Given the description of an element on the screen output the (x, y) to click on. 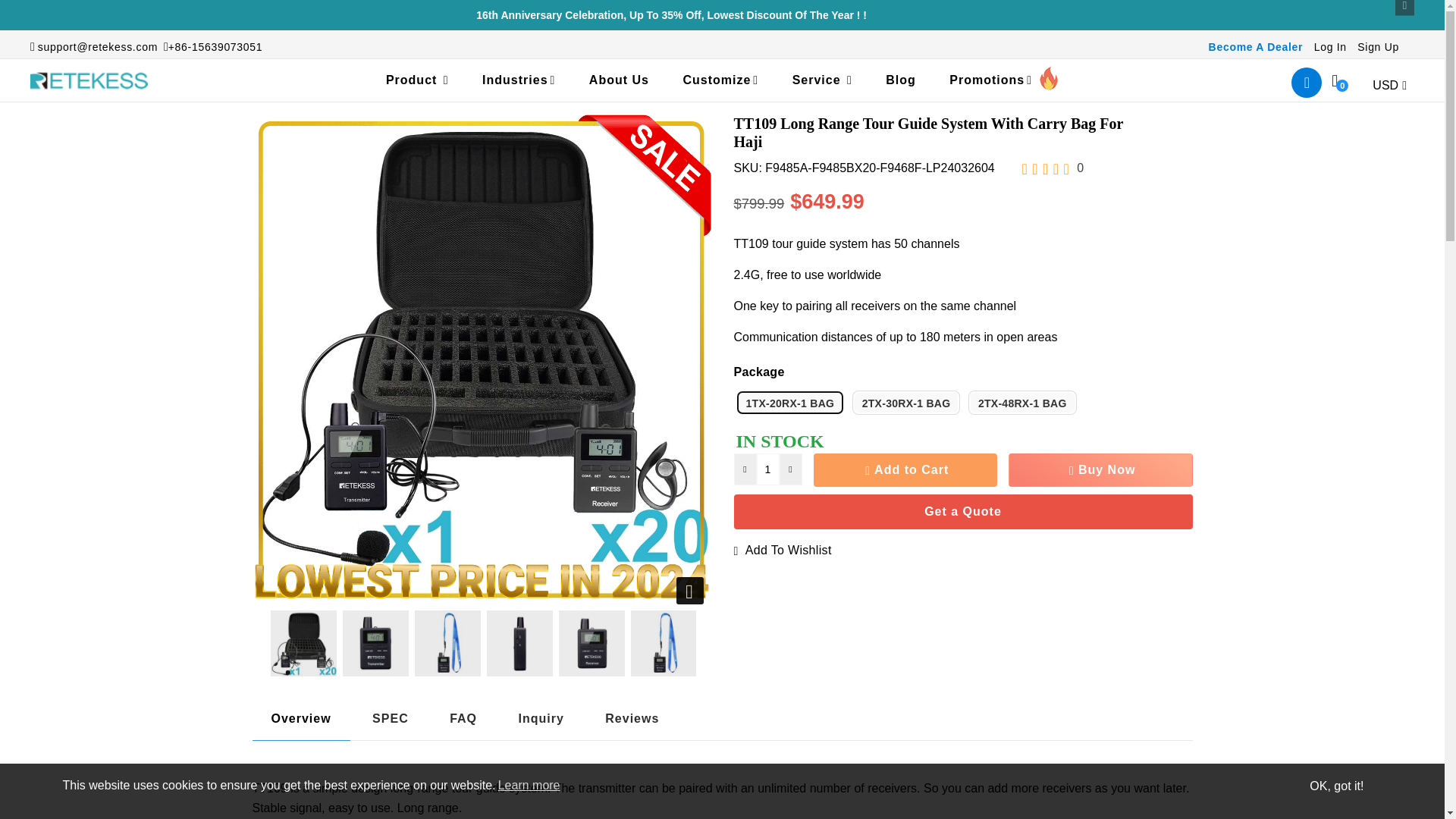
Service (822, 80)
BLOG (900, 80)
retekess-tt109-whisper-system-main-with-carry-bag-x20 (302, 643)
Promotions (1004, 80)
Log In (1330, 46)
About Us (618, 80)
tour-guide-transmitter-tt109 (375, 643)
Zoom (690, 590)
Product (417, 80)
Sign Up (1377, 46)
